Given the description of an element on the screen output the (x, y) to click on. 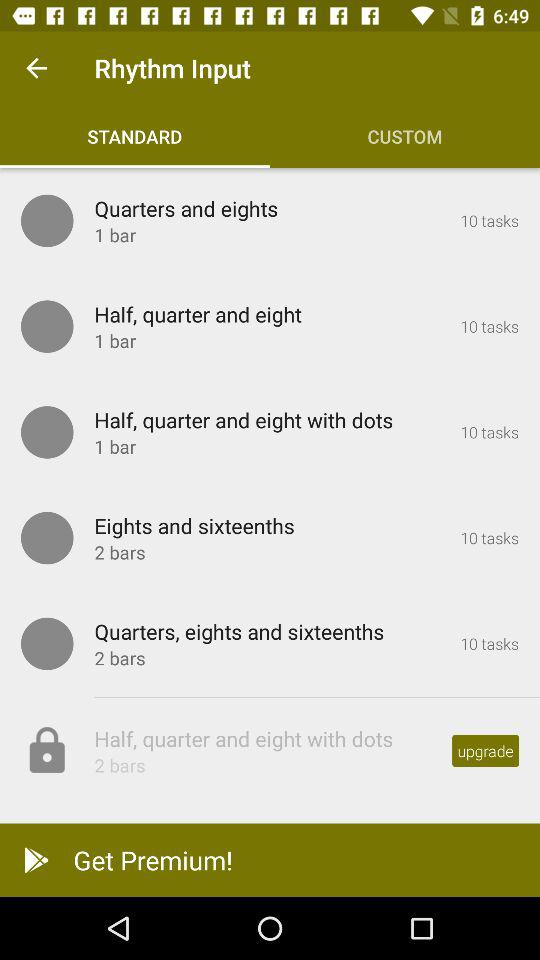
open icon to the left of the rhythm input (36, 68)
